Given the description of an element on the screen output the (x, y) to click on. 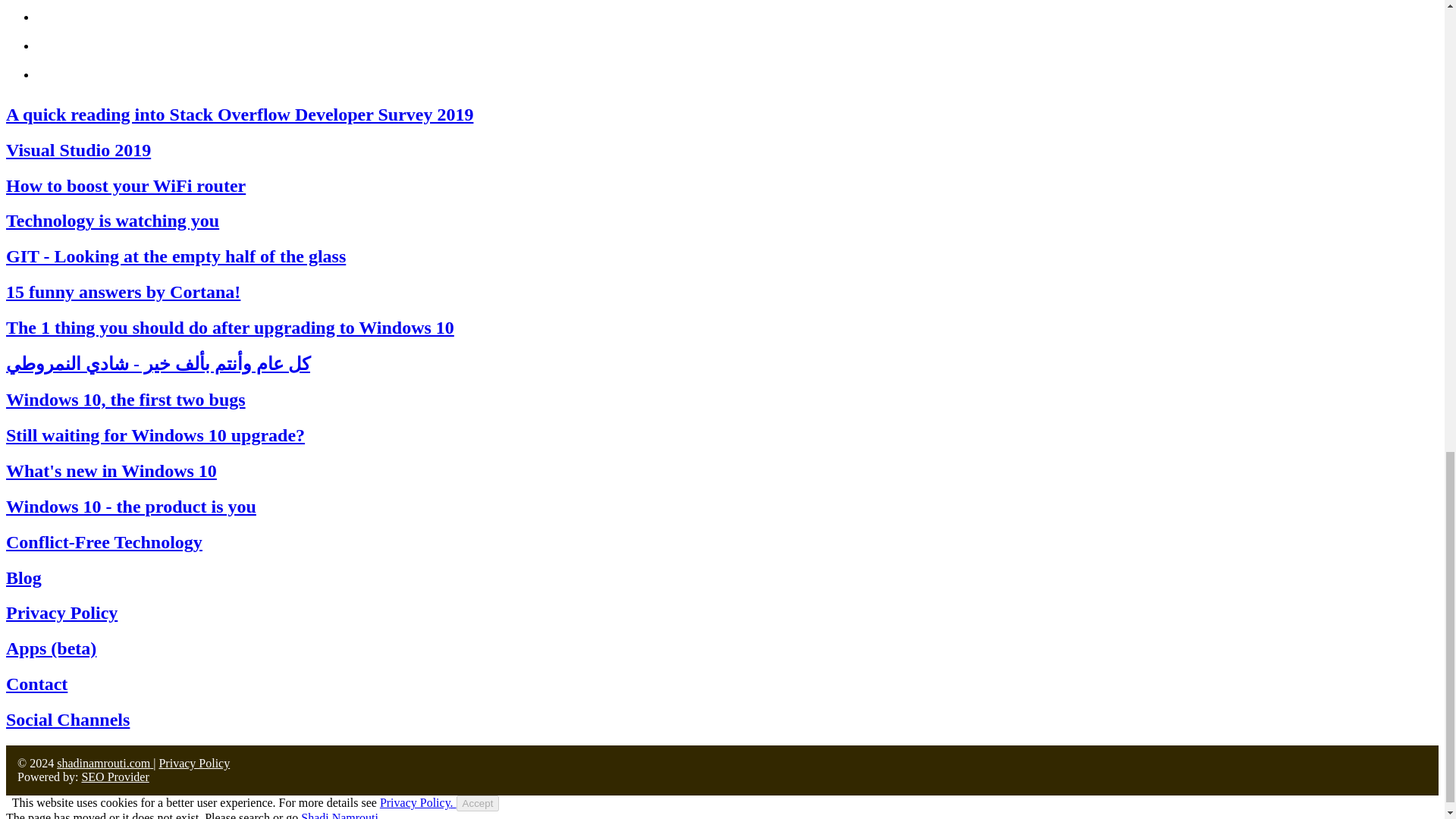
Privacy Policy (194, 762)
Accept (478, 803)
SEO Provider (114, 776)
shadinamrouti.com (104, 762)
Privacy Policy. (418, 802)
